Given the description of an element on the screen output the (x, y) to click on. 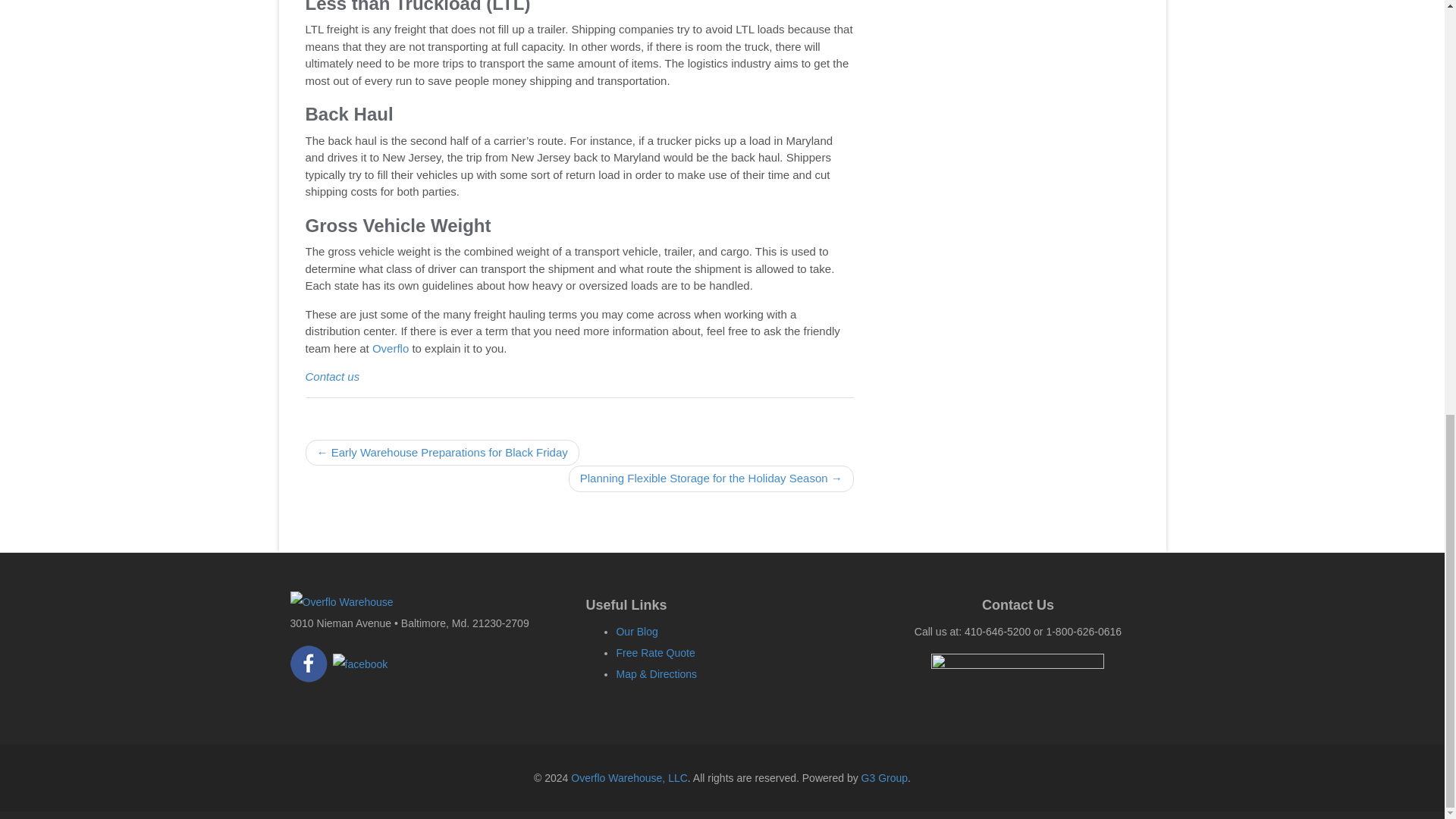
Contact us (331, 376)
Our Blog (636, 631)
Overflo Warehouse, LLC (628, 777)
G3 Group (884, 777)
Overflo (390, 348)
Free Rate Quote (654, 653)
